Given the description of an element on the screen output the (x, y) to click on. 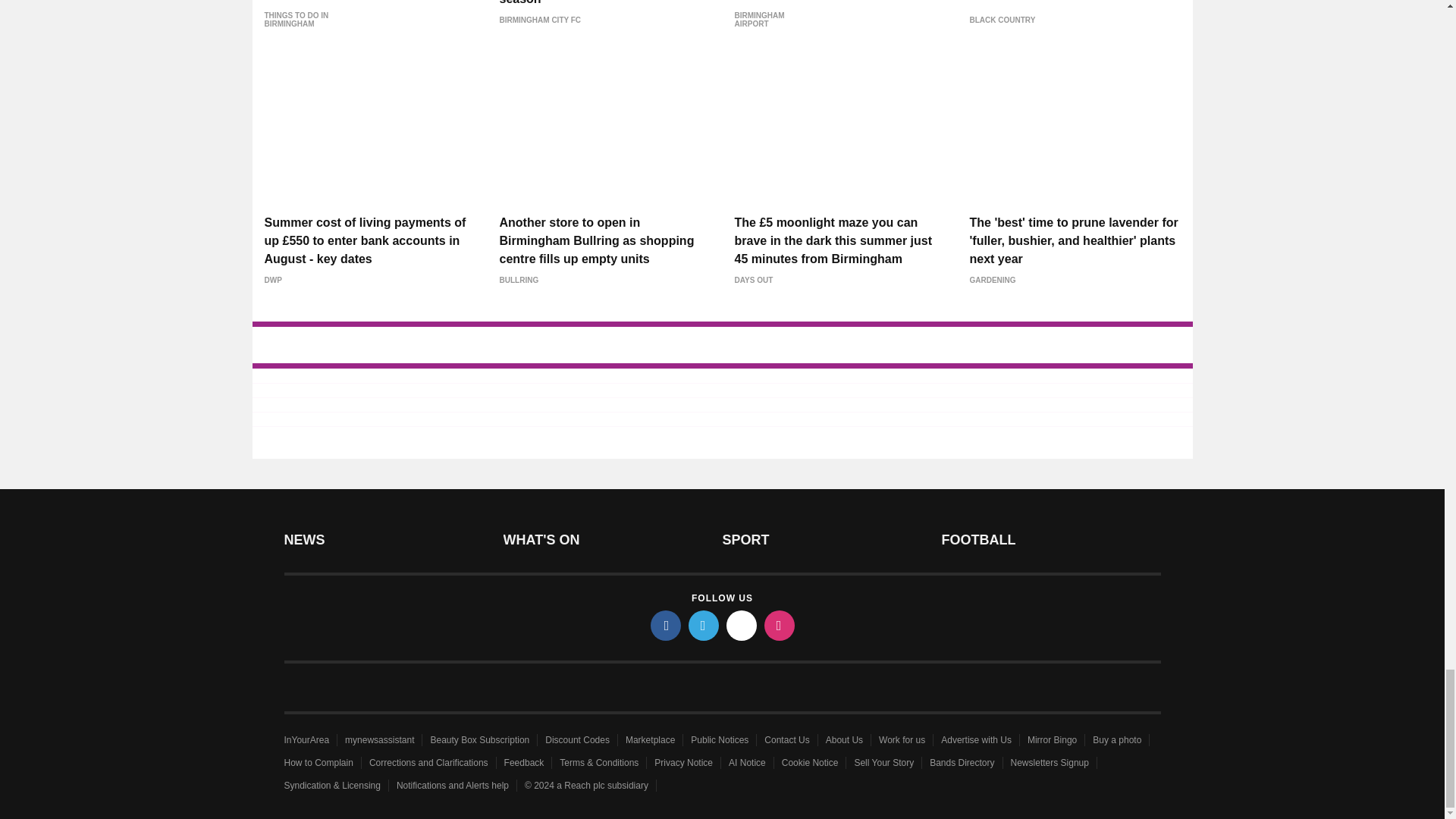
facebook (665, 625)
twitter (703, 625)
tiktok (741, 625)
instagram (779, 625)
